Given the description of an element on the screen output the (x, y) to click on. 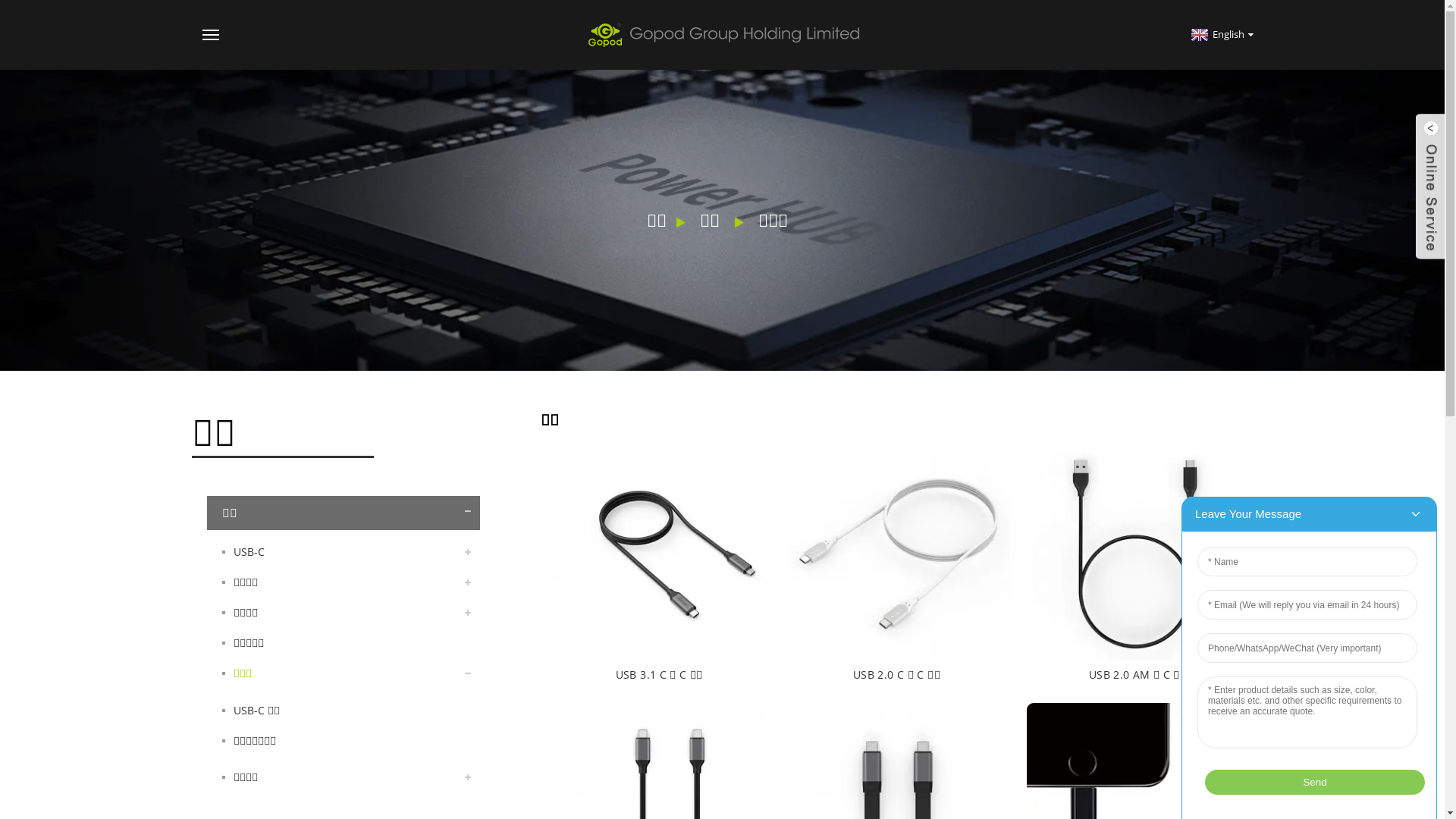
USB 2.0 AM to C Cable/ Element type: hover (1136, 548)
USB-C Element type: text (342, 551)
USB 3.1 C to C Cable/ Element type: hover (661, 548)
English Element type: text (1220, 33)
USB 2.0 C to C Cable/ Element type: hover (899, 548)
